Given the description of an element on the screen output the (x, y) to click on. 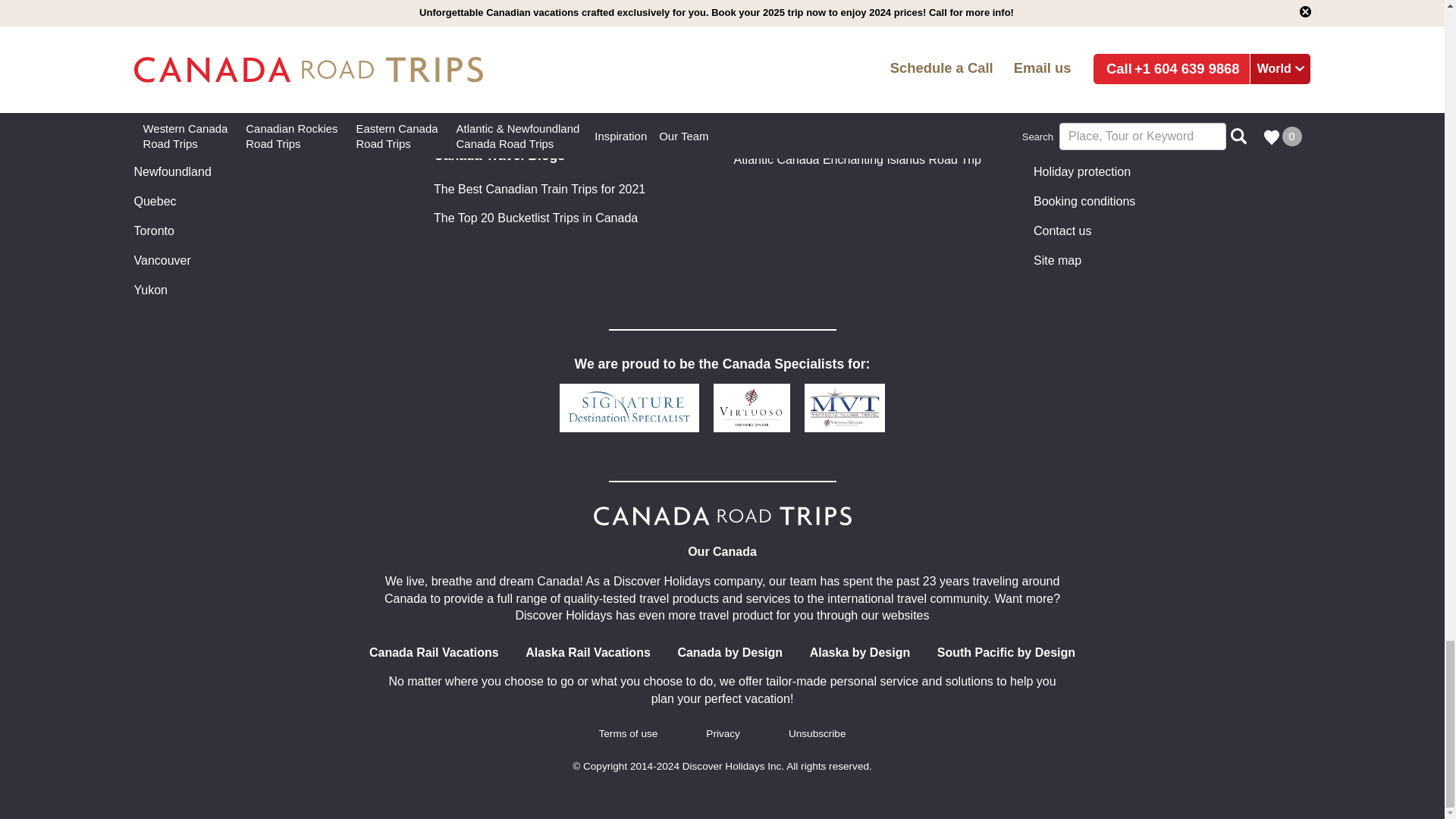
Newfoundland (172, 172)
Canadian Rockies (182, 142)
Follow us on Instagram (721, 8)
Montecito Village Travel (845, 408)
Virtuoso (751, 408)
Follow us on LinkedIn (778, 8)
Atlantic Canada (176, 113)
Follow us on Facebook (665, 8)
Signature Destination Specialist (628, 408)
